Given the description of an element on the screen output the (x, y) to click on. 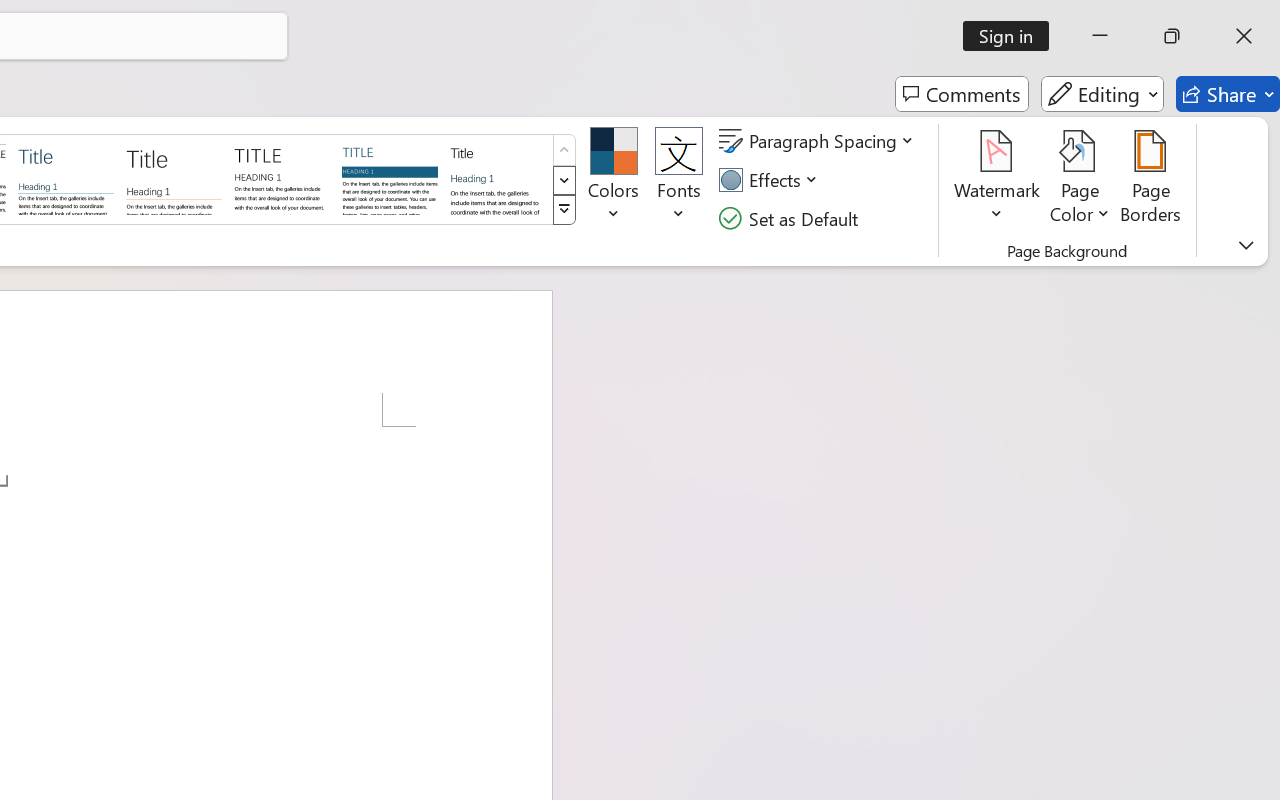
Fonts (678, 179)
Minimalist (281, 178)
Sign in (1012, 35)
Lines (Stylish) (173, 178)
Watermark (997, 179)
Lines (Simple) (65, 178)
Set as Default (791, 218)
Page Color (1080, 179)
Style Set (564, 209)
Word (497, 178)
